Given the description of an element on the screen output the (x, y) to click on. 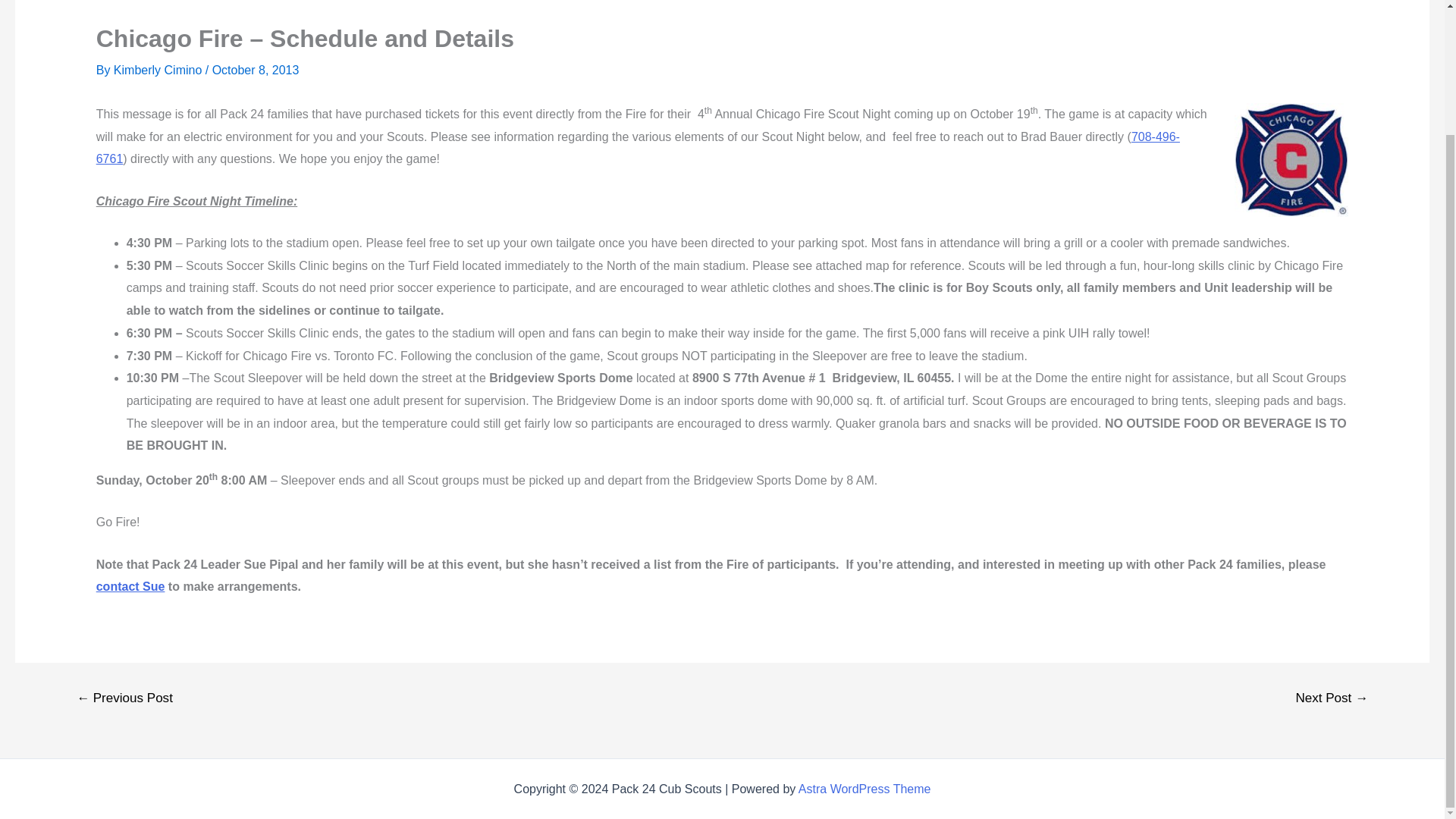
Astra WordPress Theme (864, 788)
contact Sue (130, 585)
708-496-6761 (637, 148)
Kimberly Cimino (159, 69)
Sue Pipal's email (130, 585)
View all posts by Kimberly Cimino (159, 69)
